Given the description of an element on the screen output the (x, y) to click on. 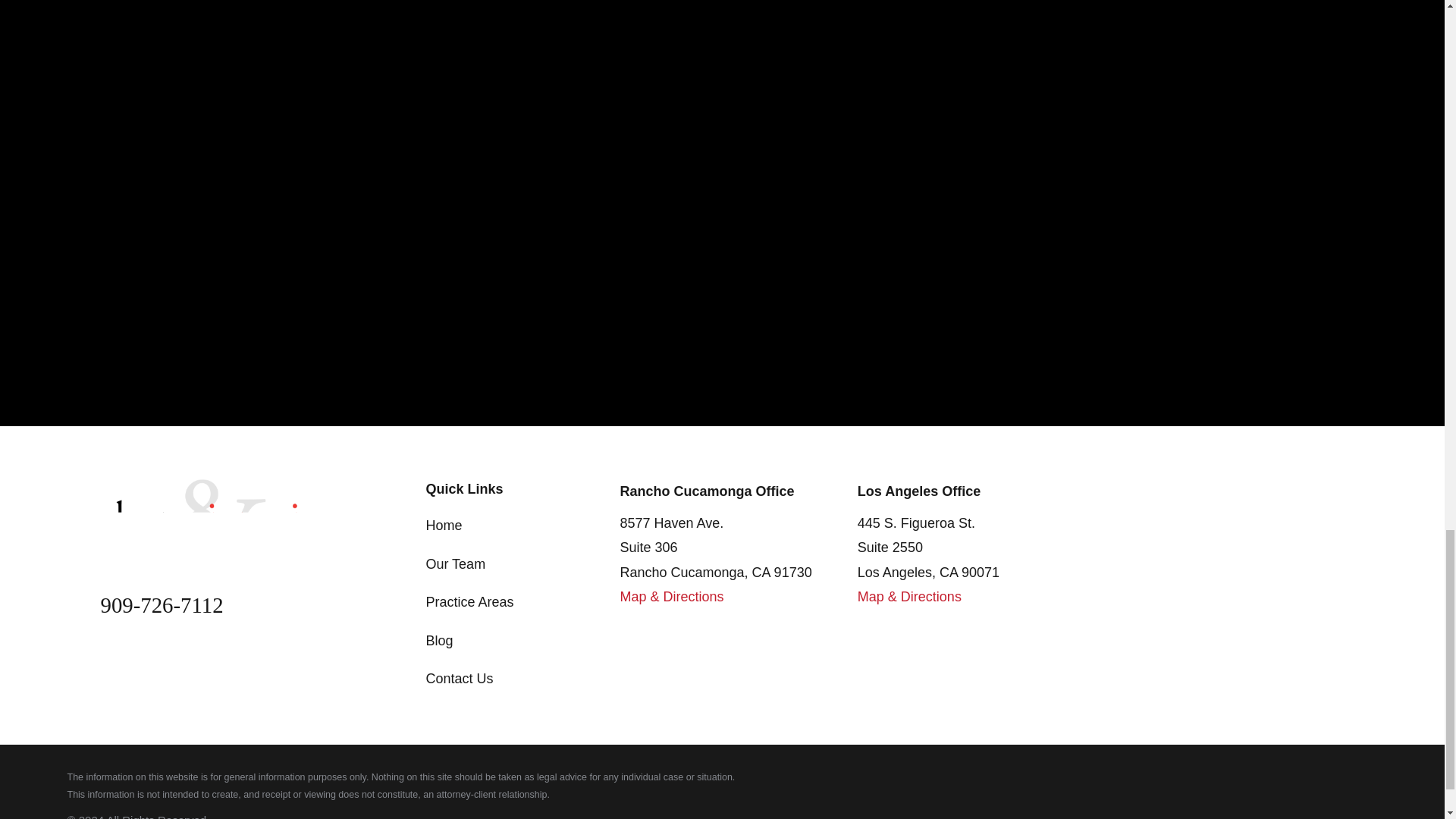
Home (209, 519)
